Given the description of an element on the screen output the (x, y) to click on. 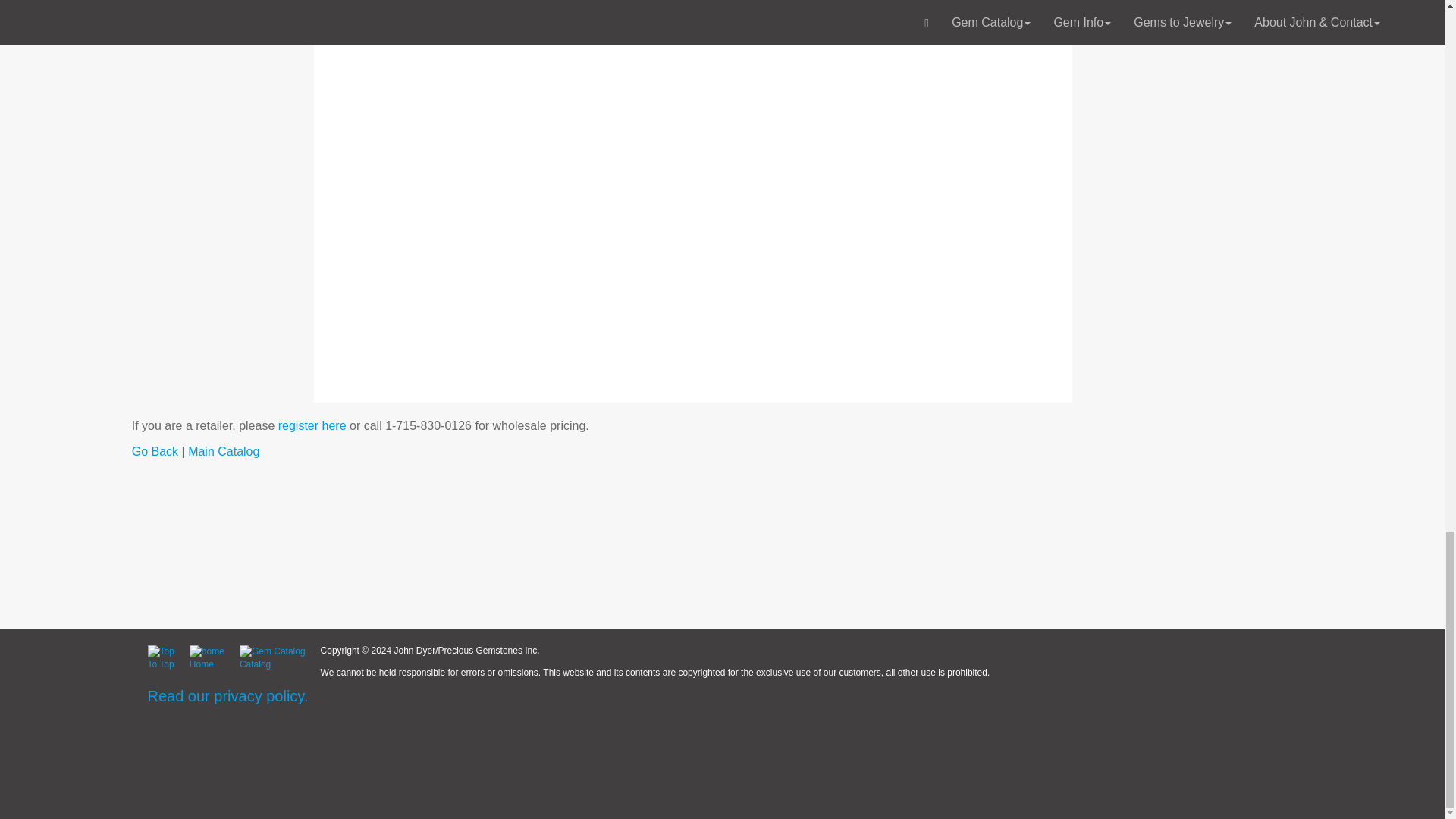
Home (214, 657)
Read our privacy policy. (227, 695)
Catalog (280, 657)
To Top (168, 657)
Main Catalog (223, 451)
Go Back (154, 451)
register here (312, 425)
